Given the description of an element on the screen output the (x, y) to click on. 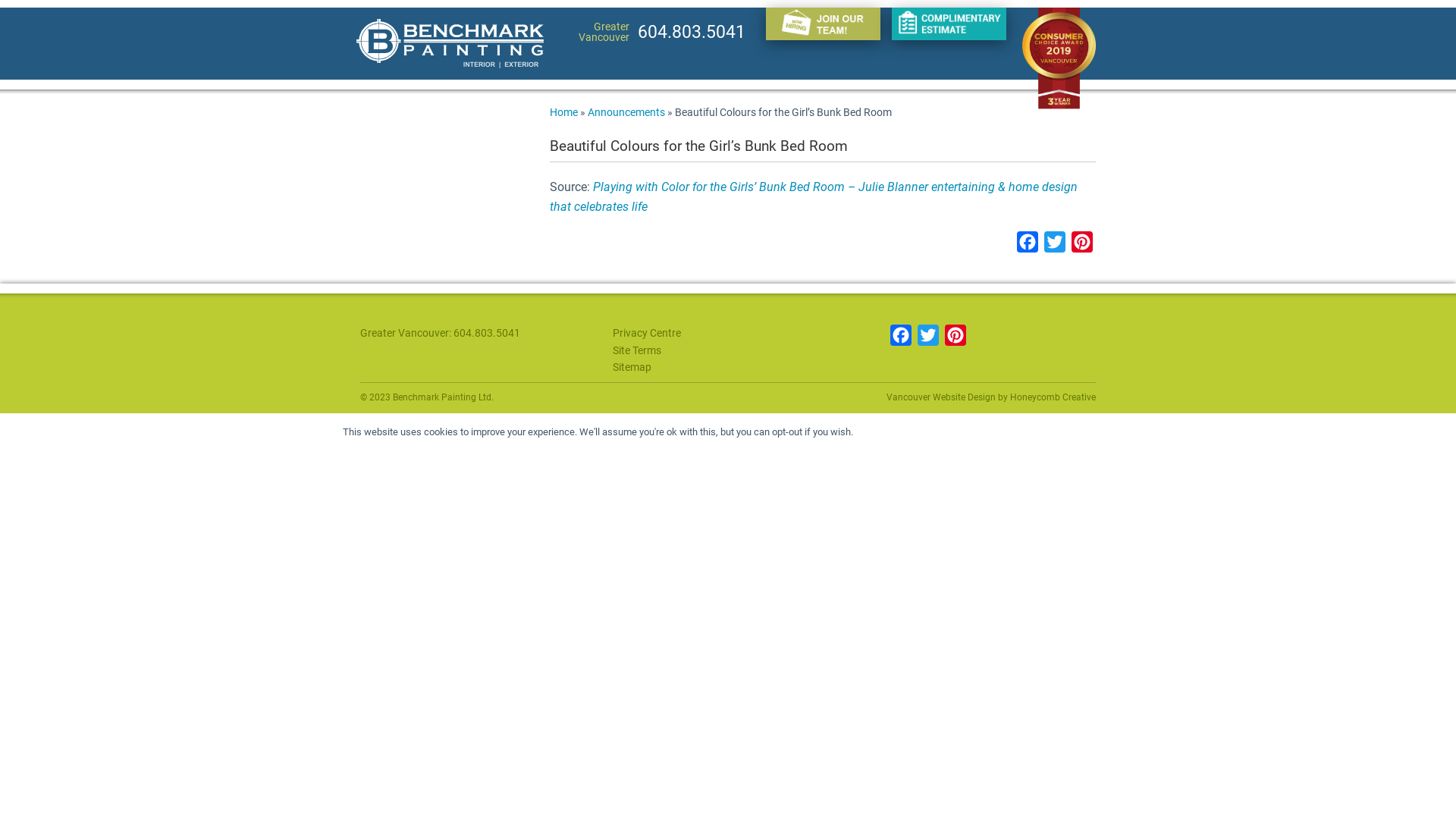
Vancouver Website Design Element type: text (940, 397)
Twitter Element type: text (1054, 245)
Back to Home - Benchmark Painting Ltd. Element type: hover (449, 52)
Voted Best Painting Contractor 3 Years in a Row Element type: hover (1058, 58)
Announcements Element type: text (626, 112)
Site Terms Element type: text (636, 350)
Honeycomb Creative Element type: text (1052, 397)
Home Element type: text (563, 112)
Greater Vancouver: 604.803.5041 Element type: text (440, 332)
View our Cookie Policy Element type: text (1052, 431)
Accept Element type: text (886, 431)
Twitter Element type: text (927, 337)
Facebook Element type: text (1027, 245)
Pinterest Element type: text (1081, 245)
Sitemap Element type: text (631, 366)
Facebook Element type: text (900, 337)
Pinterest Element type: text (955, 337)
Settings Element type: text (952, 431)
Privacy Centre Element type: text (646, 332)
